Given the description of an element on the screen output the (x, y) to click on. 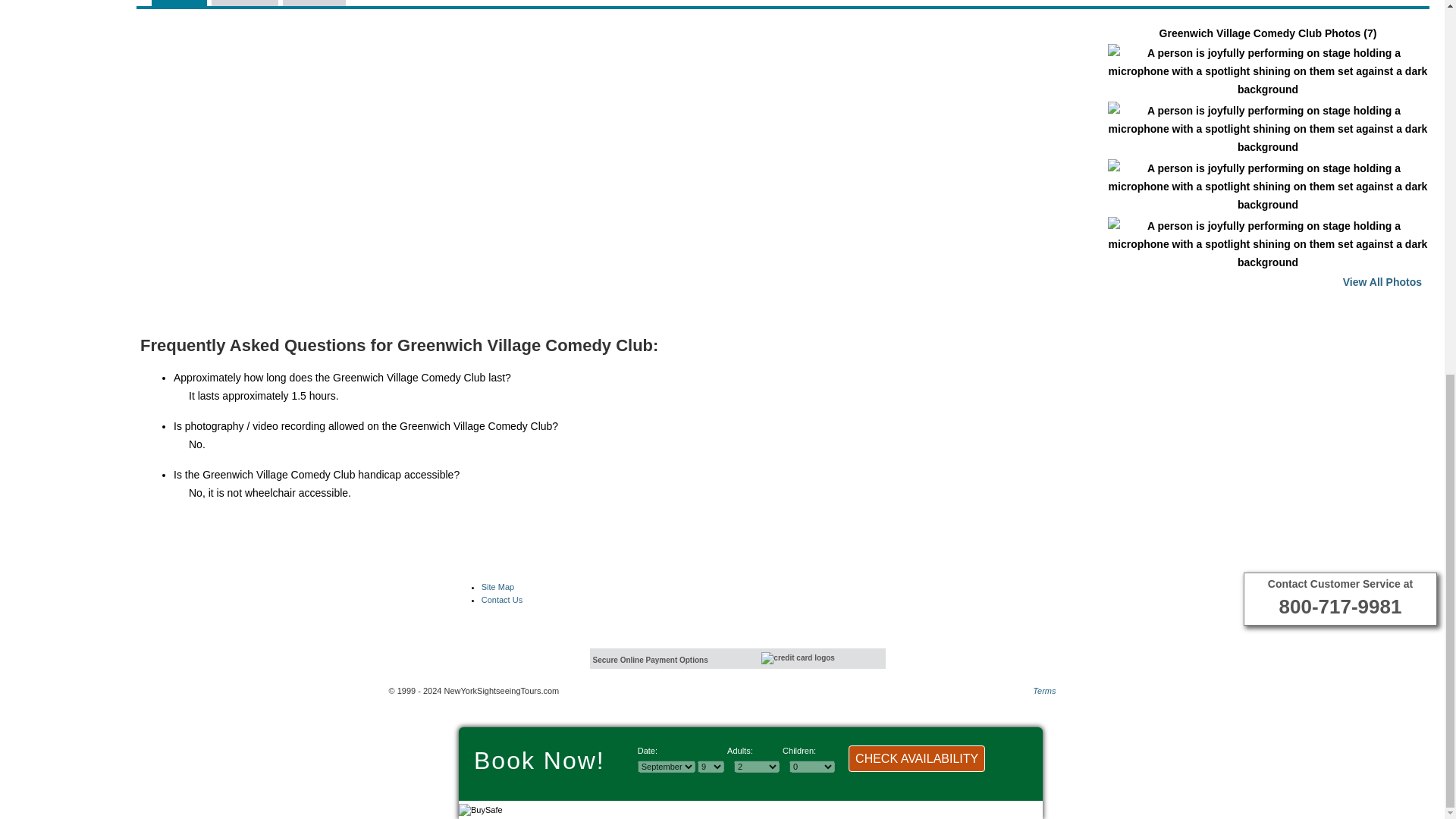
Contact Us (501, 599)
View All Photos (1382, 282)
Terms (1043, 690)
Site Map (497, 586)
